Given the description of an element on the screen output the (x, y) to click on. 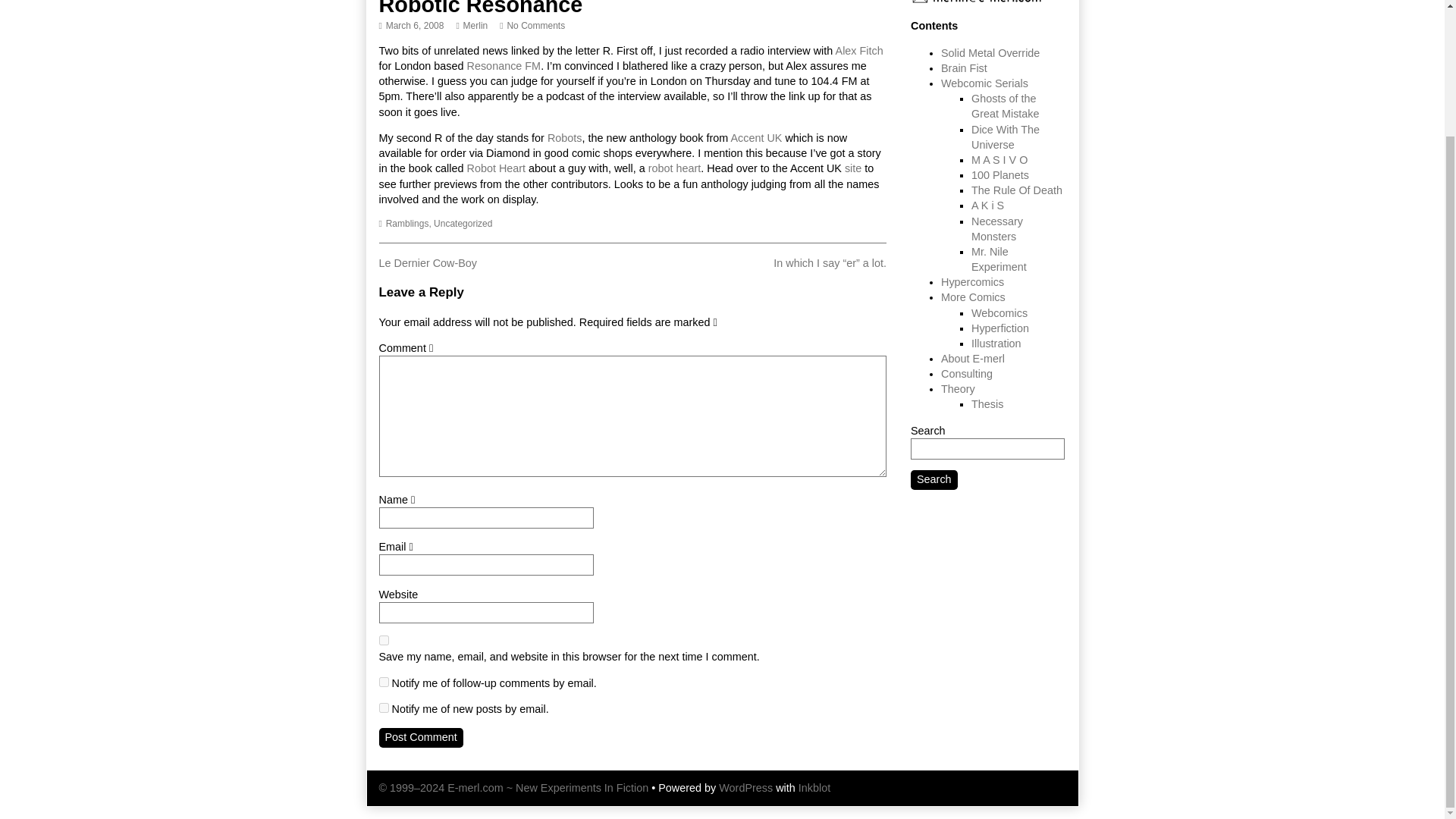
subscribe (383, 707)
Robots (564, 137)
Accent UK (427, 263)
robot heart (755, 137)
subscribe (674, 168)
Solid Metal Override (383, 682)
Ramblings (989, 52)
Alex Fitch (411, 25)
Post Comment (407, 223)
Uncategorized (859, 50)
Brain Fist (420, 737)
Resonance FM (462, 223)
site (963, 68)
